Given the description of an element on the screen output the (x, y) to click on. 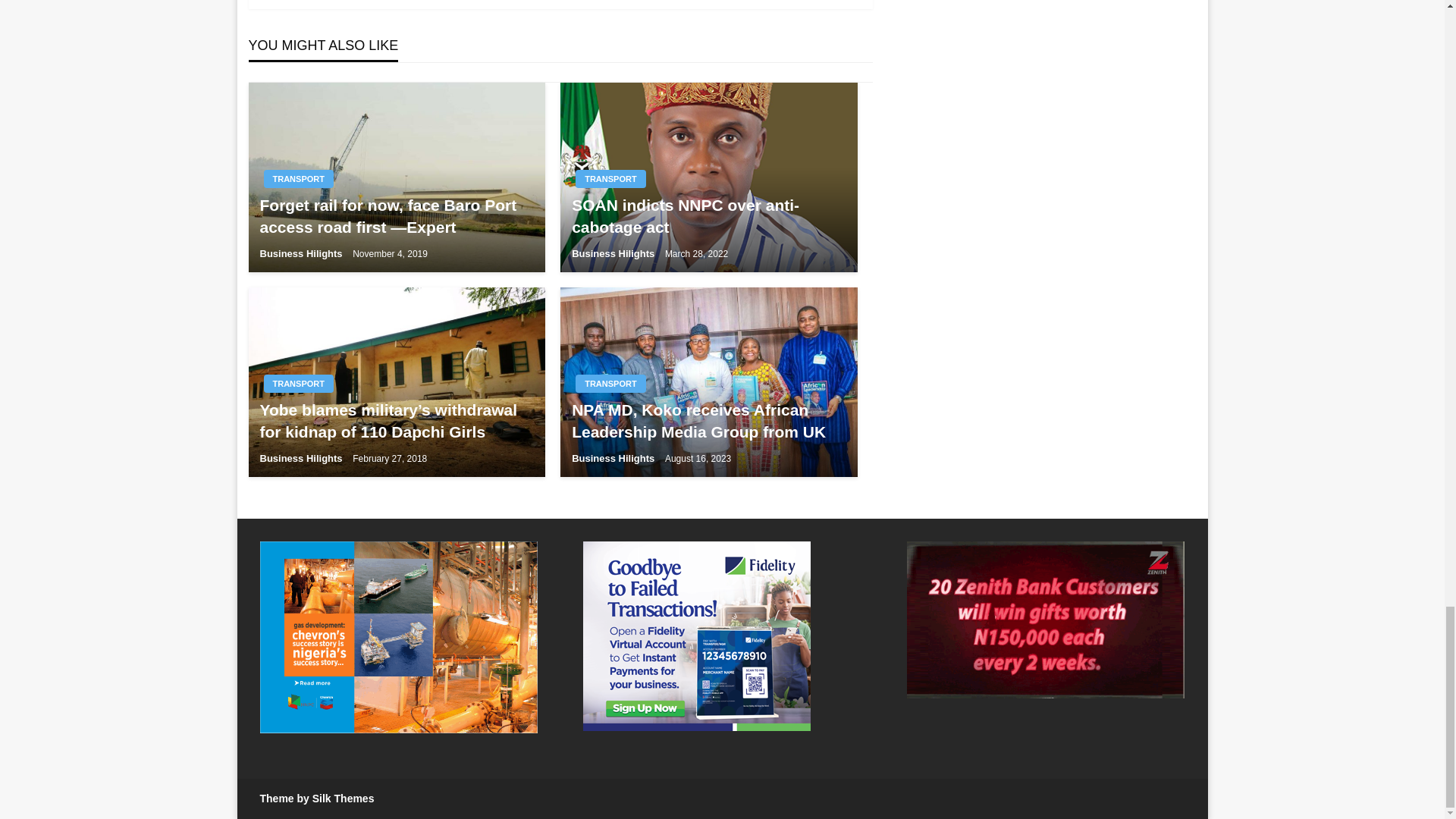
Business Hilights (302, 253)
TRANSPORT (610, 178)
TRANSPORT (298, 178)
SOAN indicts NNPC over anti-cabotage act (708, 216)
